Given the description of an element on the screen output the (x, y) to click on. 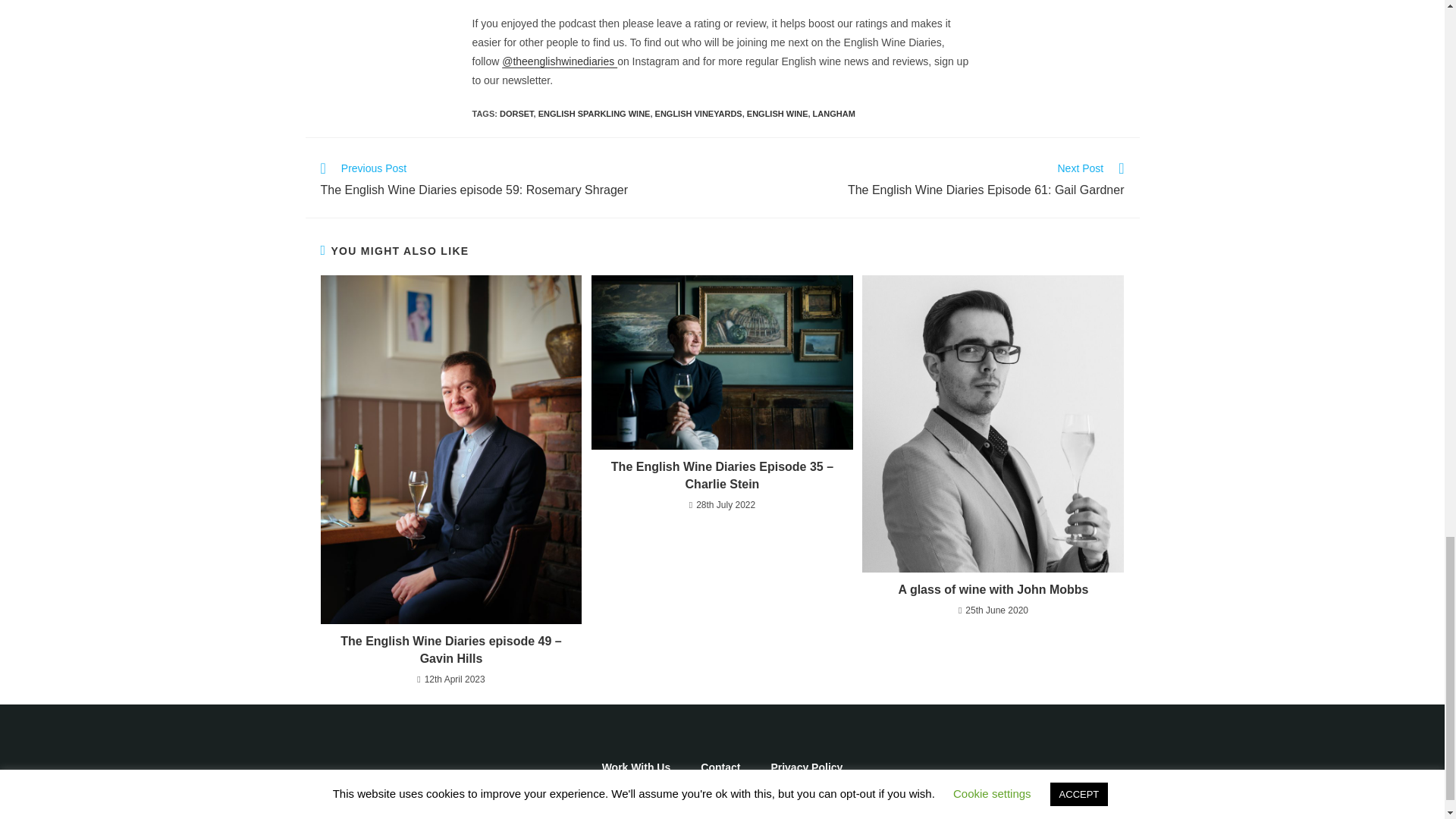
A glass of wine with John Mobbs (992, 589)
Privacy Policy (806, 767)
LANGHAM (834, 112)
ENGLISH VINEYARDS (698, 112)
ENGLISH WINE (777, 112)
ENGLISH SPARKLING WINE (930, 180)
DORSET (594, 112)
Contact (516, 112)
